Given the description of an element on the screen output the (x, y) to click on. 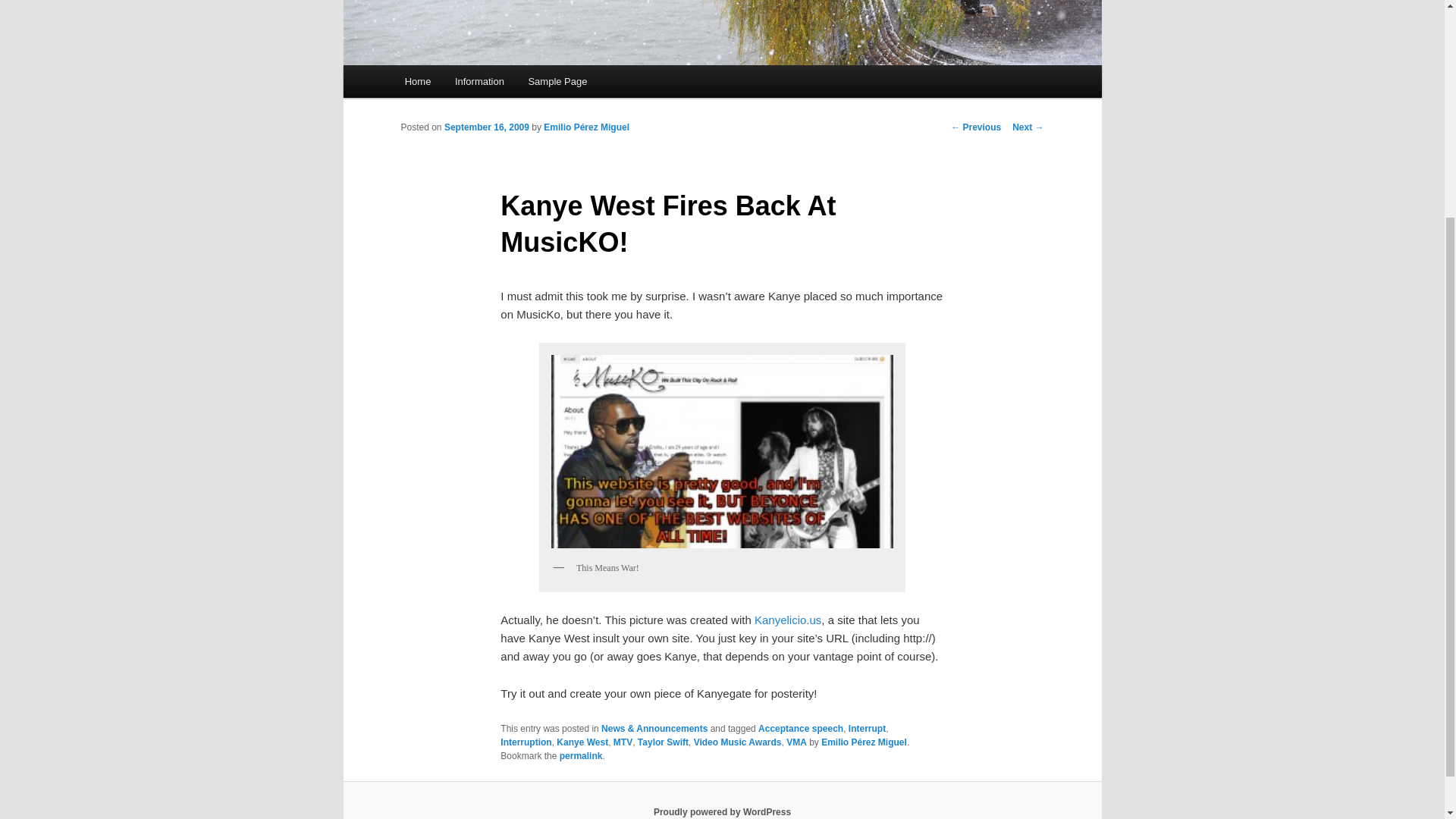
Kanyelicio.us (787, 619)
permalink (580, 756)
Interrupt (866, 728)
12:43 pm (486, 127)
Permalink to Kanye West Fires Back At MusicKO! (580, 756)
Kanye (722, 451)
Proudly powered by WordPress (721, 811)
Home (417, 81)
September 16, 2009 (486, 127)
Video Music Awards (737, 742)
